Given the description of an element on the screen output the (x, y) to click on. 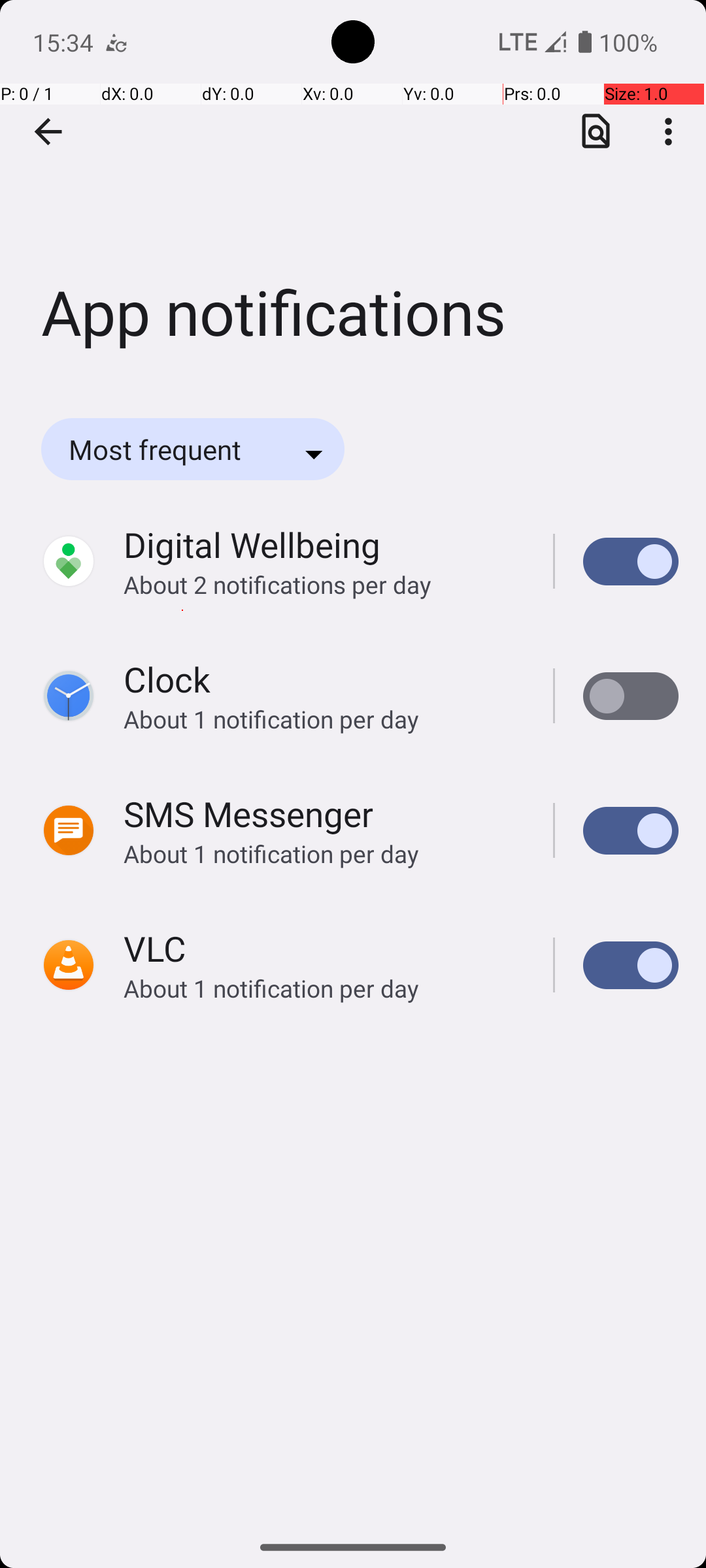
App notifications Element type: android.widget.FrameLayout (353, 195)
Most frequent Element type: android.widget.TextView (172, 448)
Digital Wellbeing Element type: android.widget.TextView (252, 544)
About 2 notifications per day Element type: android.widget.TextView (324, 584)
About 1 notification per day Element type: android.widget.TextView (324, 718)
